Given the description of an element on the screen output the (x, y) to click on. 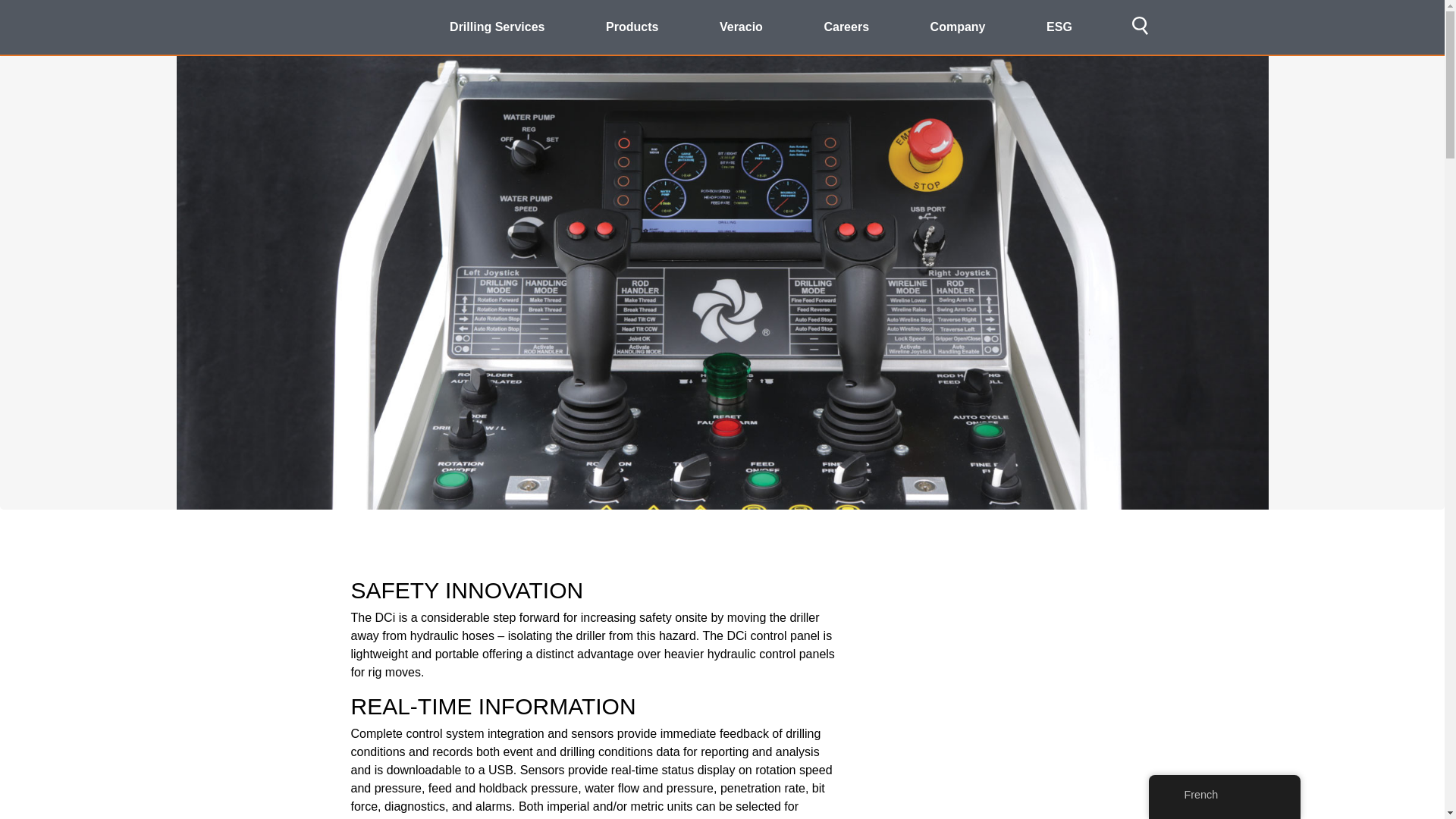
French (1172, 795)
